Given the description of an element on the screen output the (x, y) to click on. 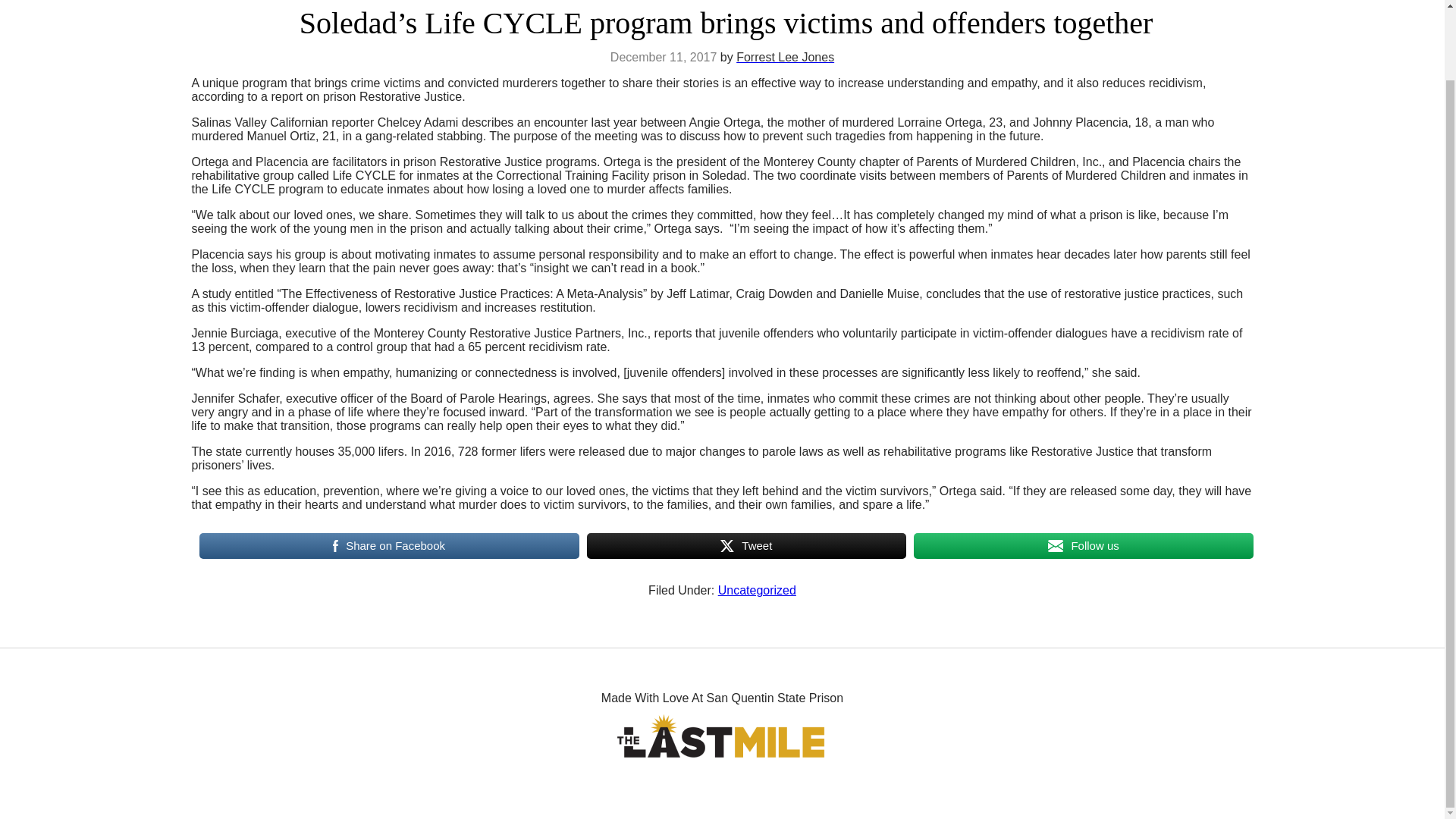
Share on Facebook (388, 545)
Tweet (745, 545)
Uncategorized (756, 590)
Follow us (1083, 545)
Forrest Lee Jones (785, 56)
